Given the description of an element on the screen output the (x, y) to click on. 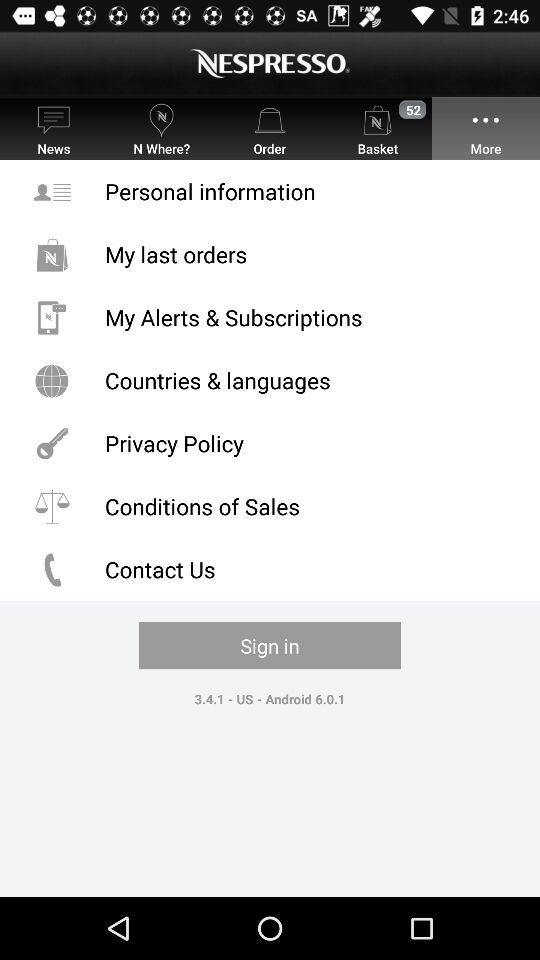
open the item below the countries & languages icon (270, 443)
